Given the description of an element on the screen output the (x, y) to click on. 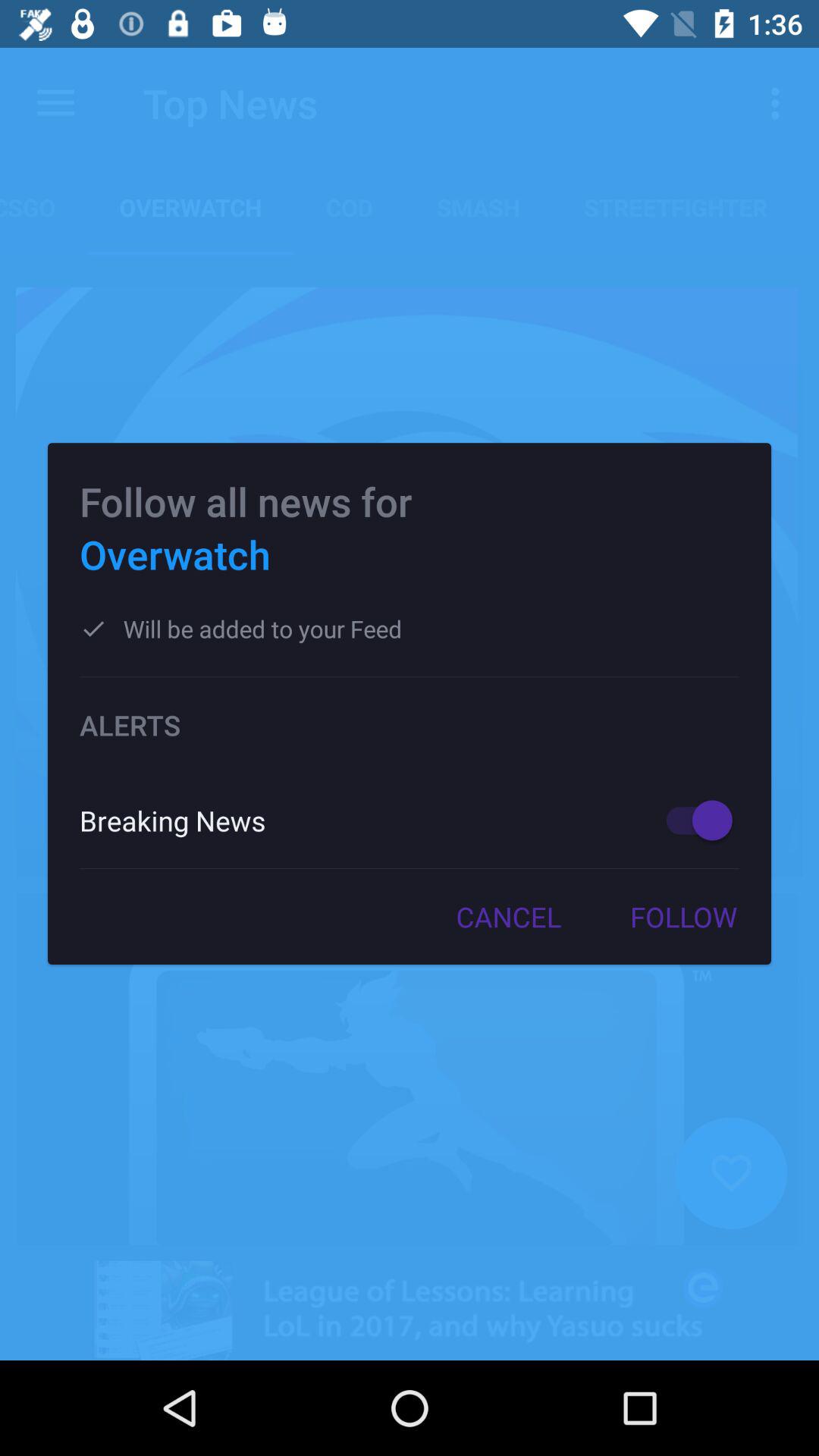
choose the icon to the left of the follow item (508, 916)
